Given the description of an element on the screen output the (x, y) to click on. 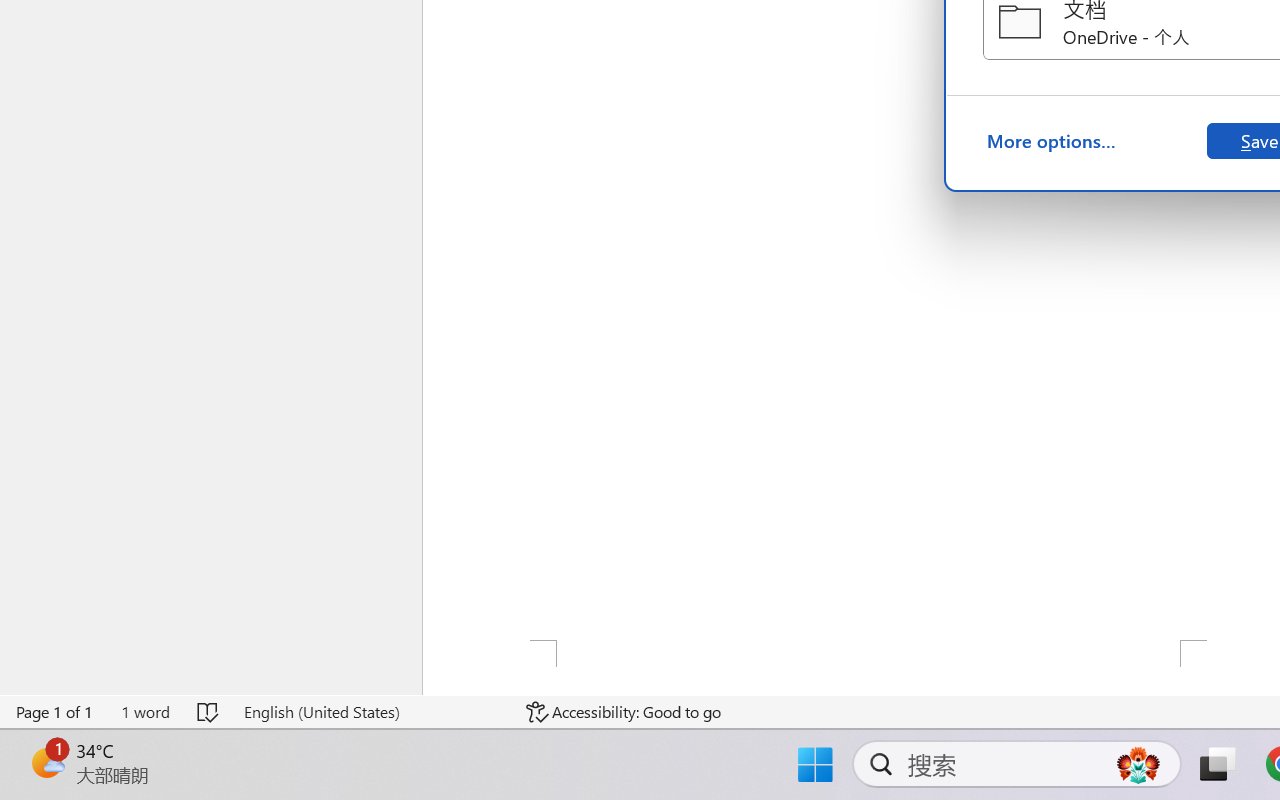
Language English (United States) (370, 712)
Word Count 1 word (145, 712)
AutomationID: DynamicSearchBoxGleamImage (1138, 764)
Accessibility Checker Accessibility: Good to go (623, 712)
Page Number Page 1 of 1 (55, 712)
AutomationID: BadgeAnchorLargeTicker (46, 762)
Spelling and Grammar Check No Errors (208, 712)
